Given the description of an element on the screen output the (x, y) to click on. 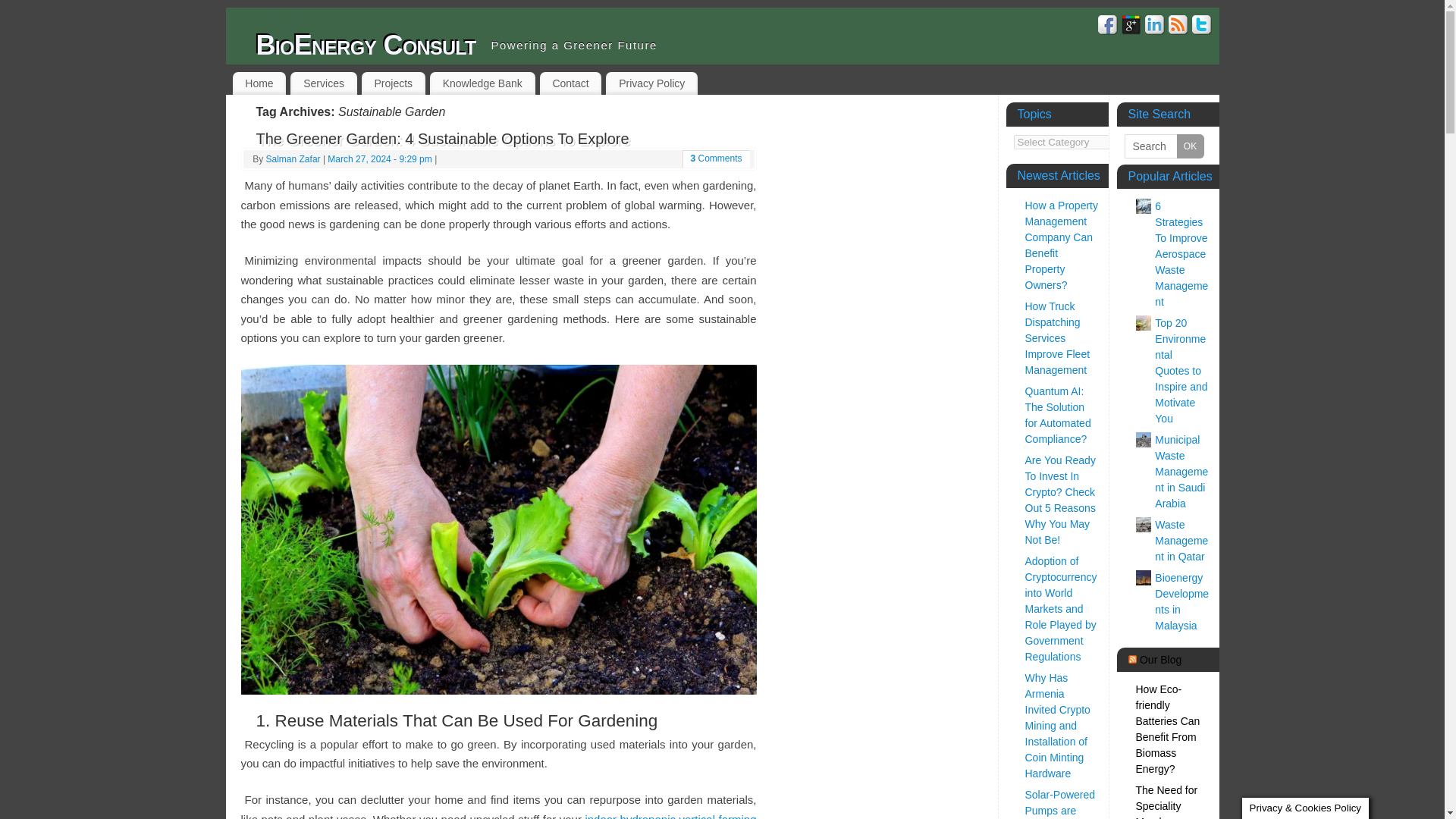
Privacy Policy (651, 83)
Search (1164, 146)
Projects (393, 83)
March 27, 2024 - 9:29 pm (378, 158)
Contact (571, 83)
9:29 pm (378, 158)
Home (258, 83)
indoor hydroponic vertical farming (670, 816)
OK (1190, 146)
Services (322, 83)
BioEnergy Consult (366, 44)
View all posts by Salman Zafar (293, 158)
3 Comments (715, 158)
Knowledge Bank (482, 83)
